Given the description of an element on the screen output the (x, y) to click on. 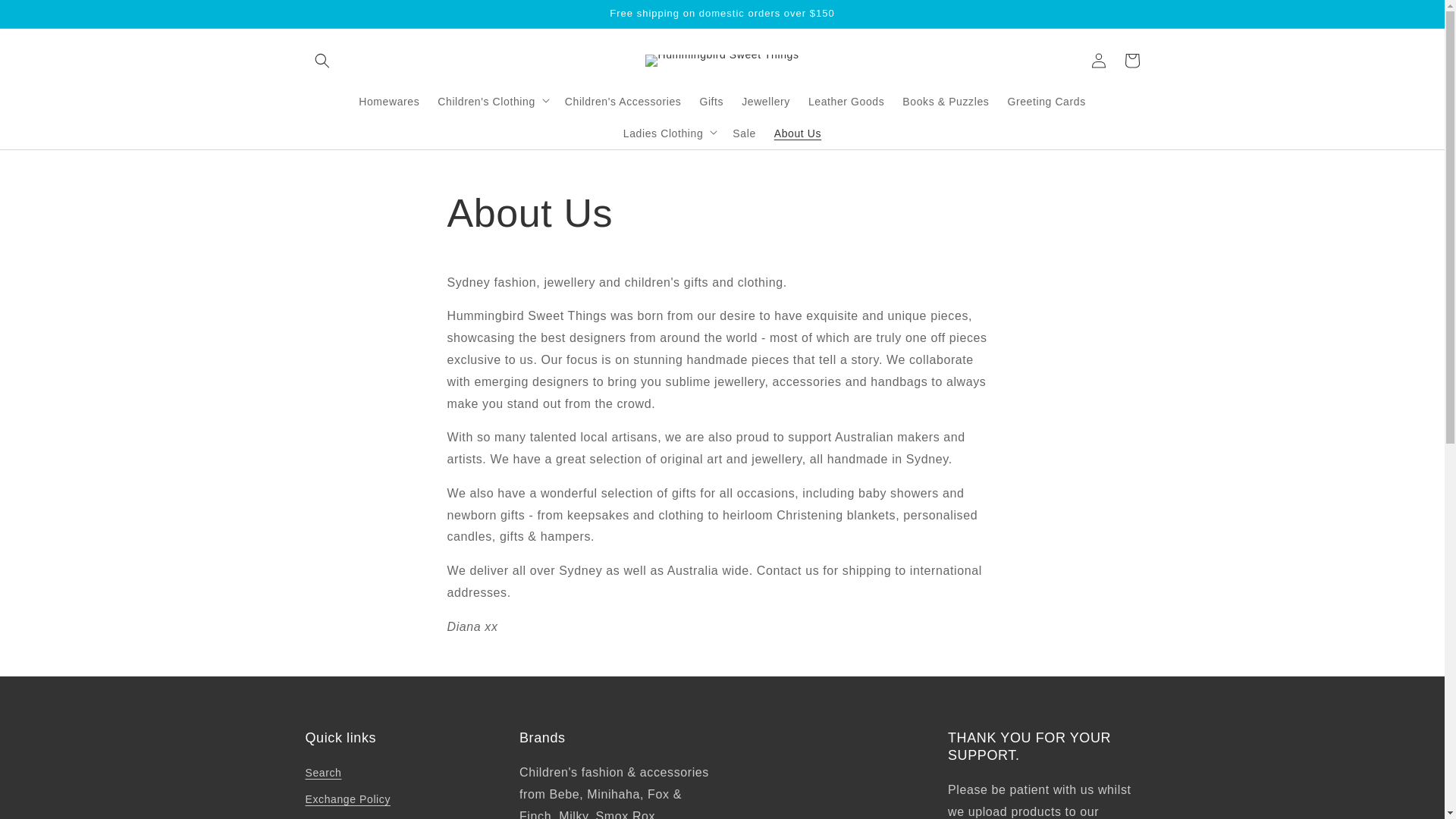
Children's Accessories (623, 101)
Greeting Cards (1045, 101)
Sale (743, 133)
Skip to content (45, 16)
Jewellery (765, 101)
About Us (797, 133)
Homewares (388, 101)
Log in (1098, 60)
Gifts (711, 101)
Leather Goods (846, 101)
